Given the description of an element on the screen output the (x, y) to click on. 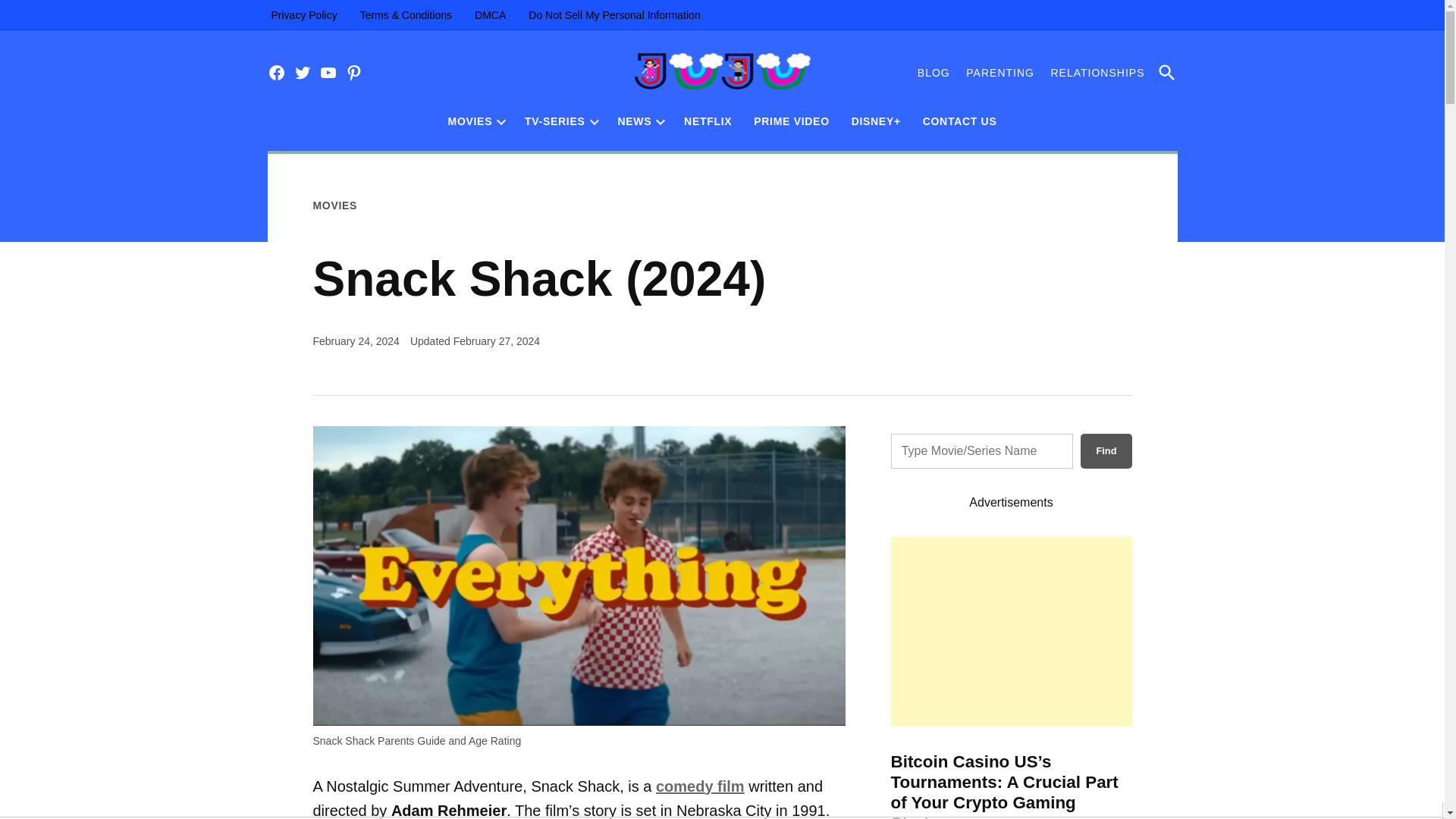
Advertisement (1010, 631)
DMCA (489, 14)
YouTube (327, 72)
Twitter (301, 72)
Privacy Policy (303, 14)
Facebook (275, 72)
Do Not Sell My Personal Information (613, 14)
